Given the description of an element on the screen output the (x, y) to click on. 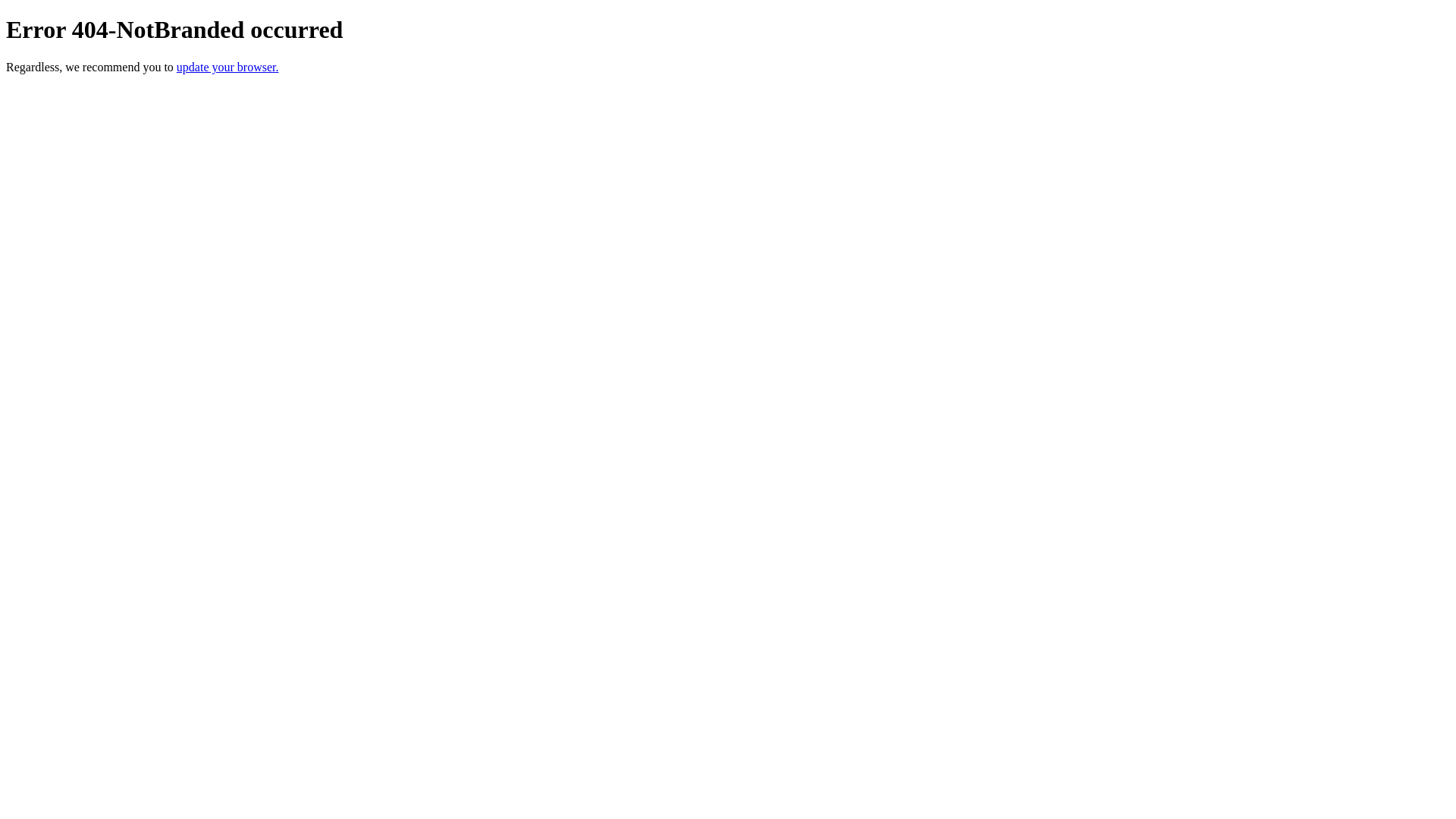
update your browser. Element type: text (227, 66)
